Given the description of an element on the screen output the (x, y) to click on. 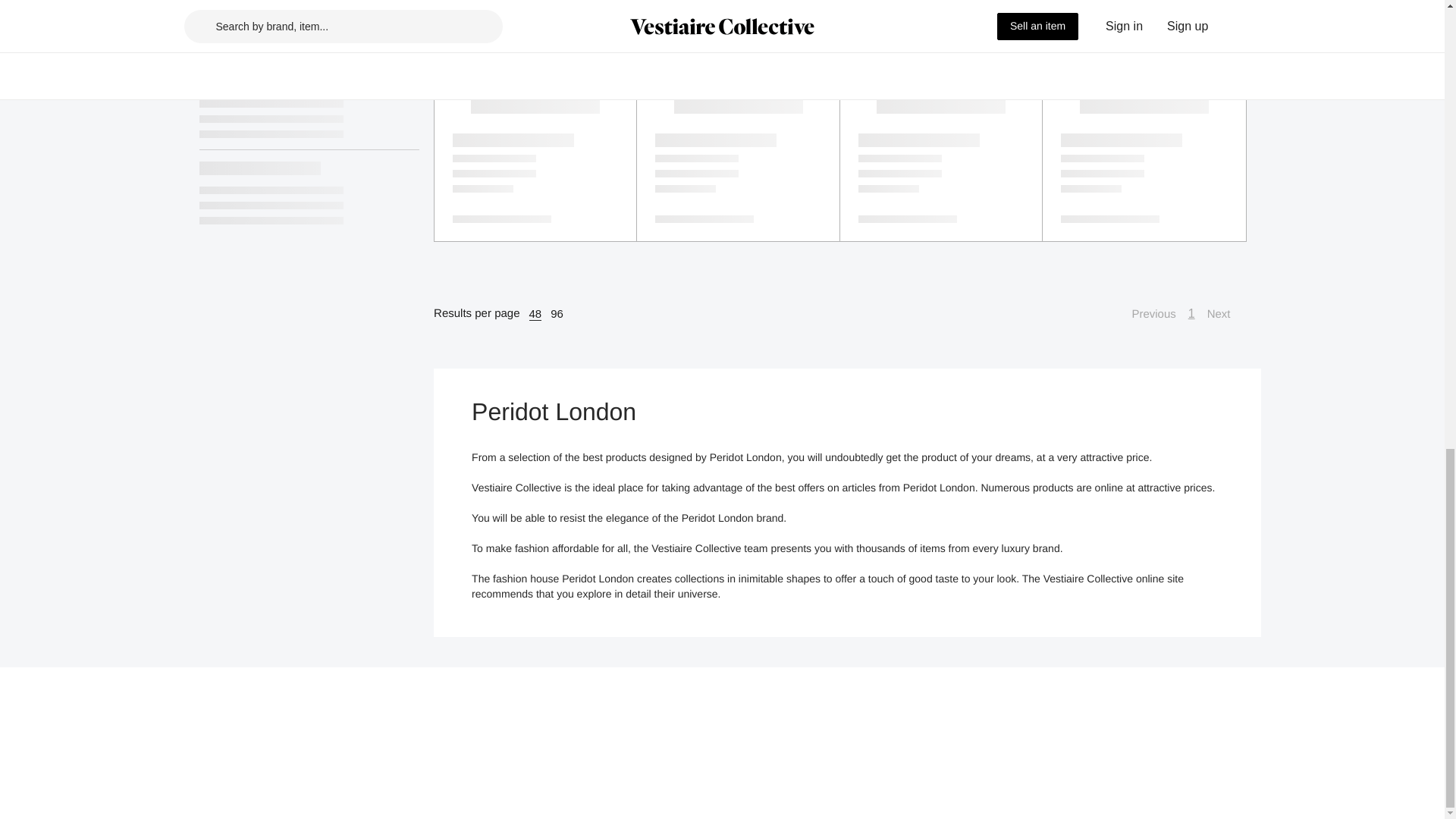
Previous (1145, 313)
48 (535, 314)
1 (1191, 313)
96 (556, 314)
Next (1226, 313)
